Given the description of an element on the screen output the (x, y) to click on. 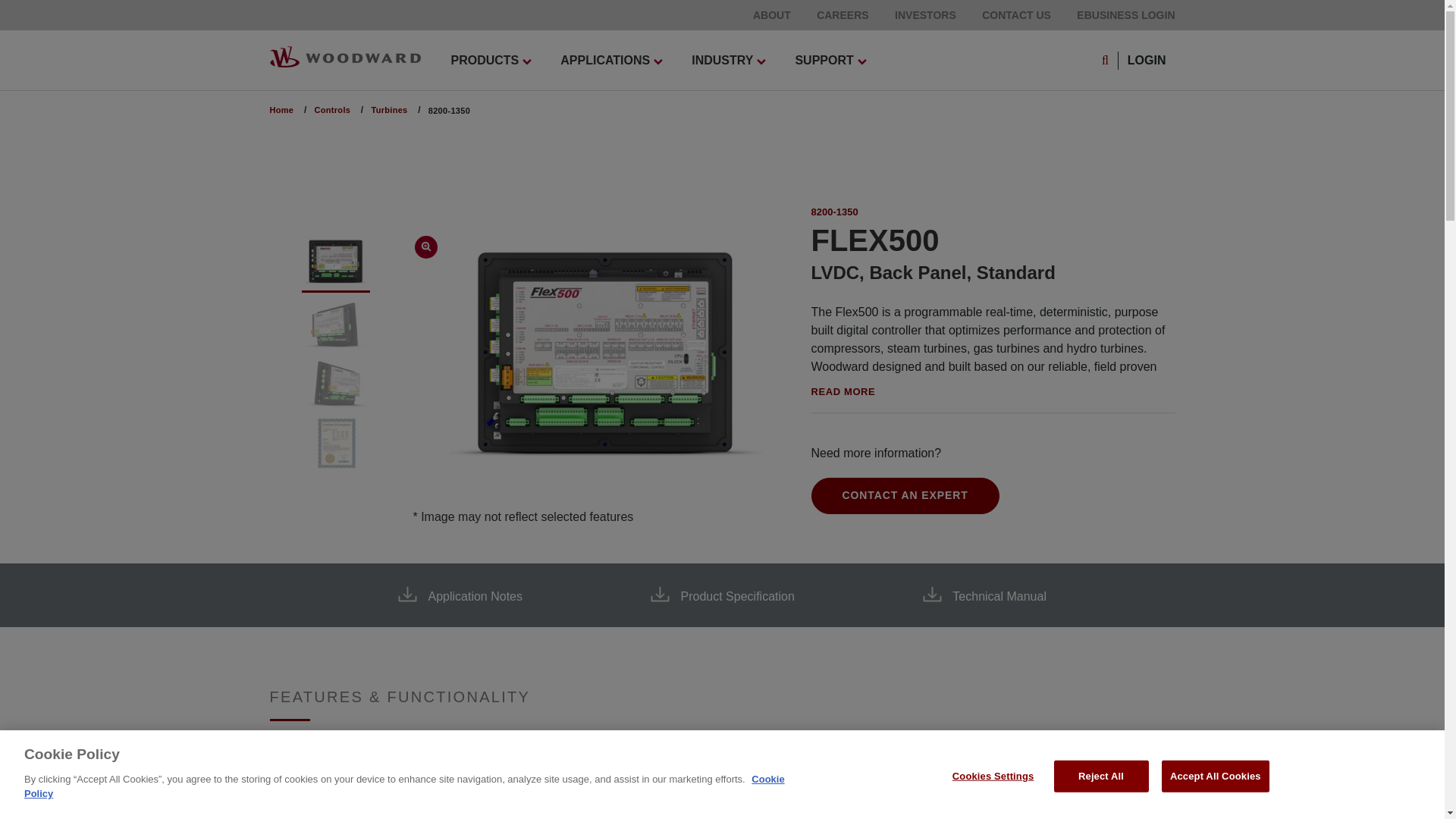
About (771, 15)
CAREERS (841, 15)
ABOUT (771, 15)
Contact Us (1016, 15)
EBUSINESS LOGIN (1125, 15)
CONTACT US (1016, 15)
 eBusiness Portal Login (1125, 15)
Investors (925, 15)
Careers (841, 15)
INVESTORS (925, 15)
